Given the description of an element on the screen output the (x, y) to click on. 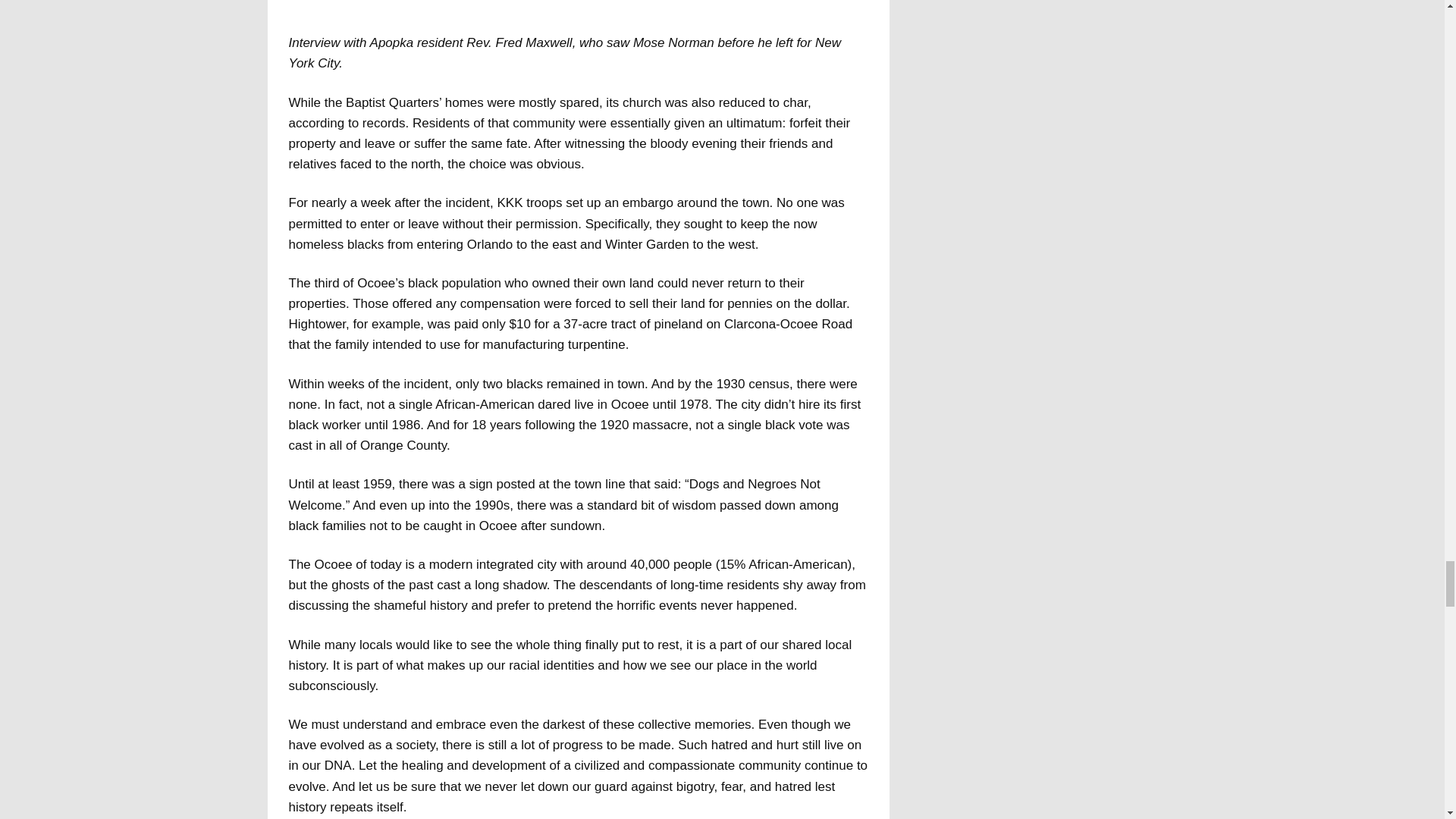
The Ocoee, Florida Race Riot 1920 (577, 7)
